Given the description of an element on the screen output the (x, y) to click on. 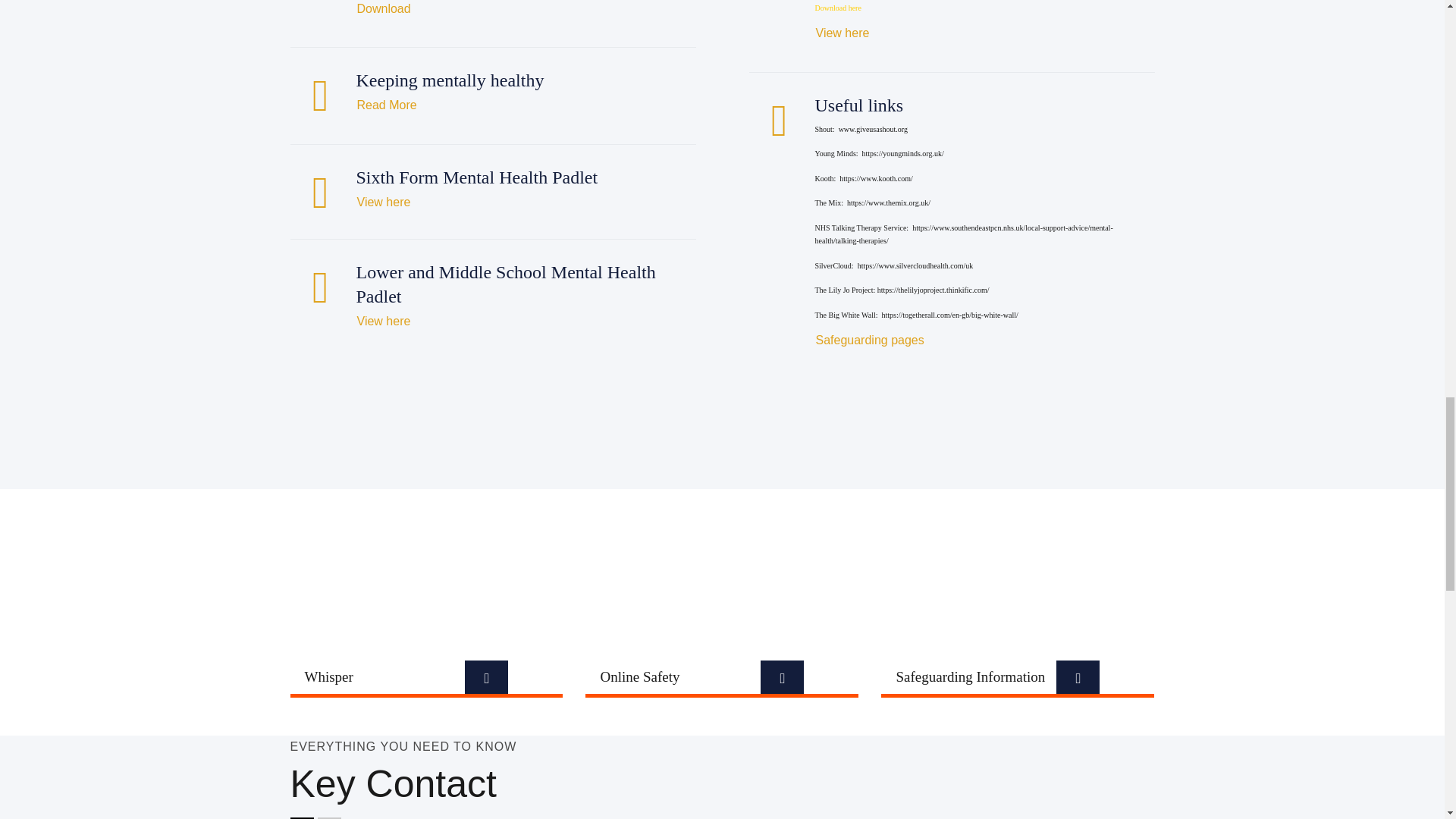
Safeguarding (868, 340)
